Given the description of an element on the screen output the (x, y) to click on. 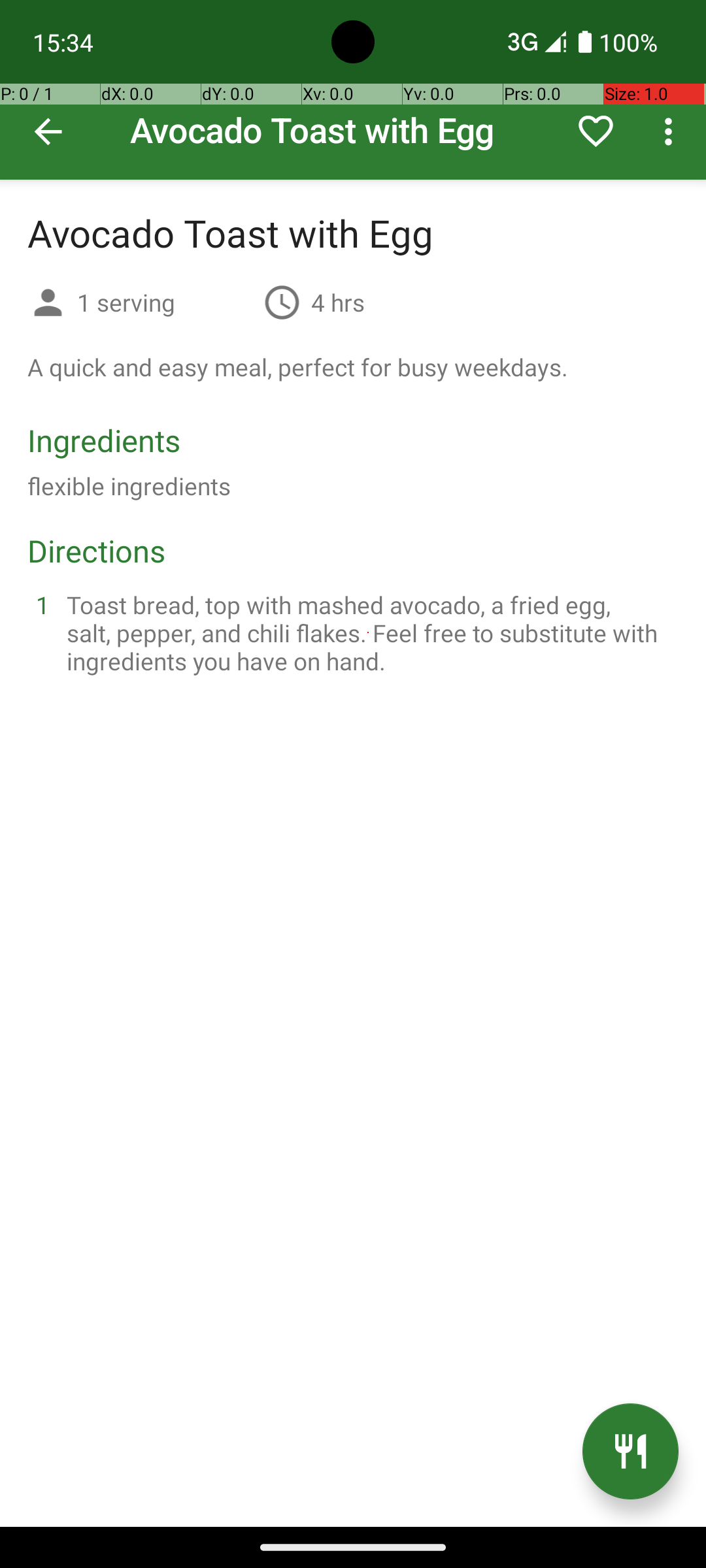
4 hrs Element type: android.widget.TextView (337, 301)
flexible ingredients Element type: android.widget.TextView (128, 485)
Toast bread, top with mashed avocado, a fried egg, salt, pepper, and chili flakes. Feel free to substitute with ingredients you have on hand. Element type: android.widget.TextView (368, 632)
